Given the description of an element on the screen output the (x, y) to click on. 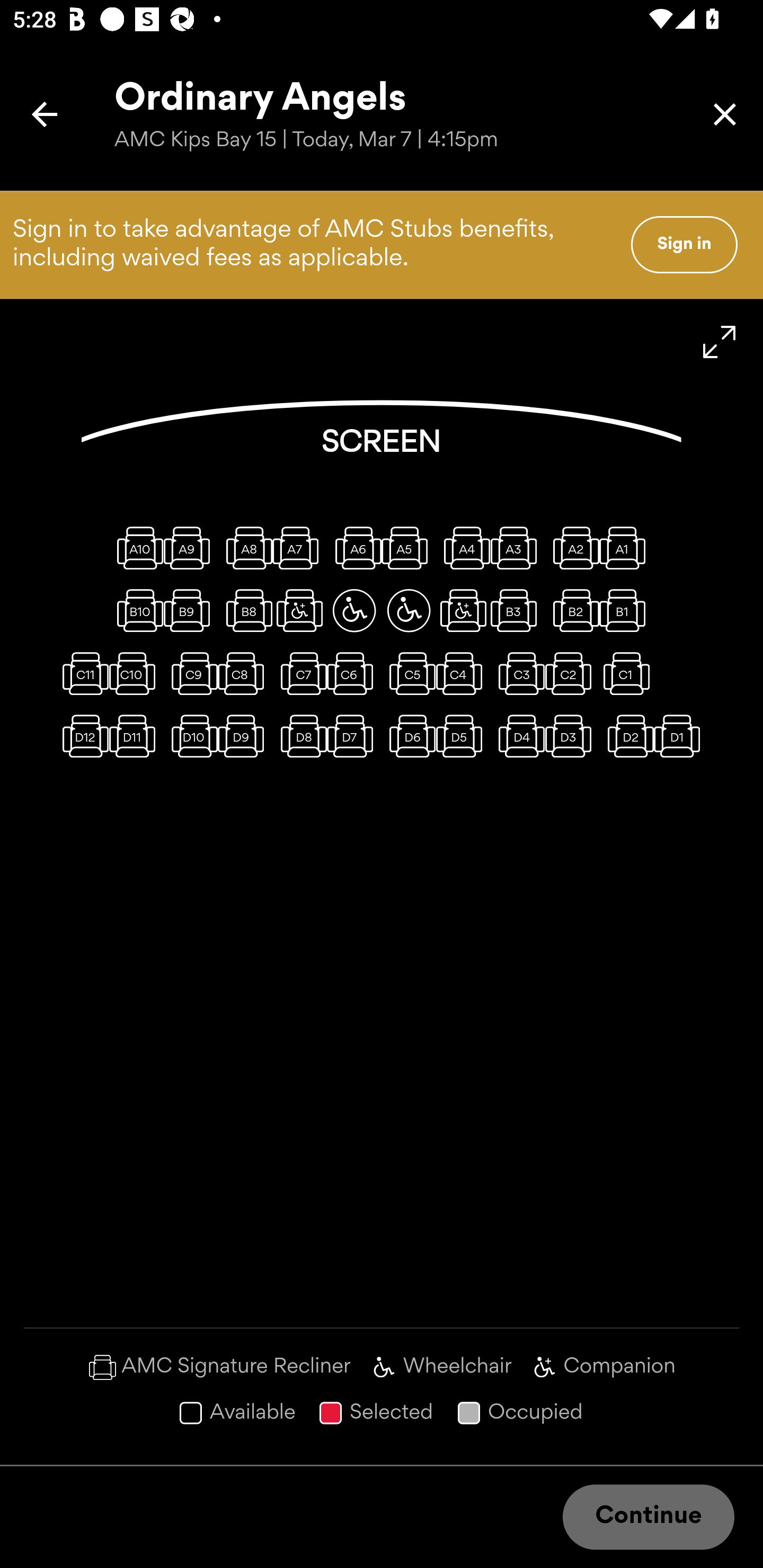
Back (44, 114)
Close (724, 114)
Sign in (684, 244)
Zoom (719, 342)
A10, Regular seat, available (136, 547)
A9, Regular seat, available (190, 547)
A8, Regular seat, available (244, 547)
A7, Regular seat, available (299, 547)
A6, Regular seat, available (353, 547)
A5, Regular seat, available (408, 547)
A4, Regular seat, available (463, 547)
A3, Regular seat, available (517, 547)
A2, Regular seat, available (571, 547)
A1, Regular seat, available (625, 547)
B10, Regular seat, available (136, 610)
B9, Regular seat, available (190, 610)
B8, Regular seat, available (244, 610)
B7, Wheelchair companion seat, available (299, 610)
B6, Wheelchair space, available (353, 610)
B5, Wheelchair space, available (408, 610)
B4, Wheelchair companion seat, available (463, 610)
B3, Regular seat, available (517, 610)
B2, Regular seat, available (571, 610)
B1, Regular seat, available (625, 610)
C11, Regular seat, available (81, 672)
C10, Regular seat, available (136, 672)
C9, Regular seat, available (190, 672)
C8, Regular seat, available (244, 672)
C7, Regular seat, available (299, 672)
C6, Regular seat, available (353, 672)
C5, Regular seat, available (408, 672)
C4, Regular seat, available (463, 672)
C3, Regular seat, available (517, 672)
C2, Regular seat, available (571, 672)
C1, Regular seat, available (625, 672)
D12, Regular seat, available (81, 736)
D11, Regular seat, available (136, 736)
D10, Regular seat, available (190, 736)
D9, Regular seat, available (244, 736)
D8, Regular seat, available (299, 736)
D7, Regular seat, available (353, 736)
D6, Regular seat, available (408, 736)
D5, Regular seat, available (463, 736)
D4, Regular seat, available (517, 736)
D3, Regular seat, available (571, 736)
D2, Regular seat, available (625, 736)
D1, Regular seat, available (680, 736)
